Given the description of an element on the screen output the (x, y) to click on. 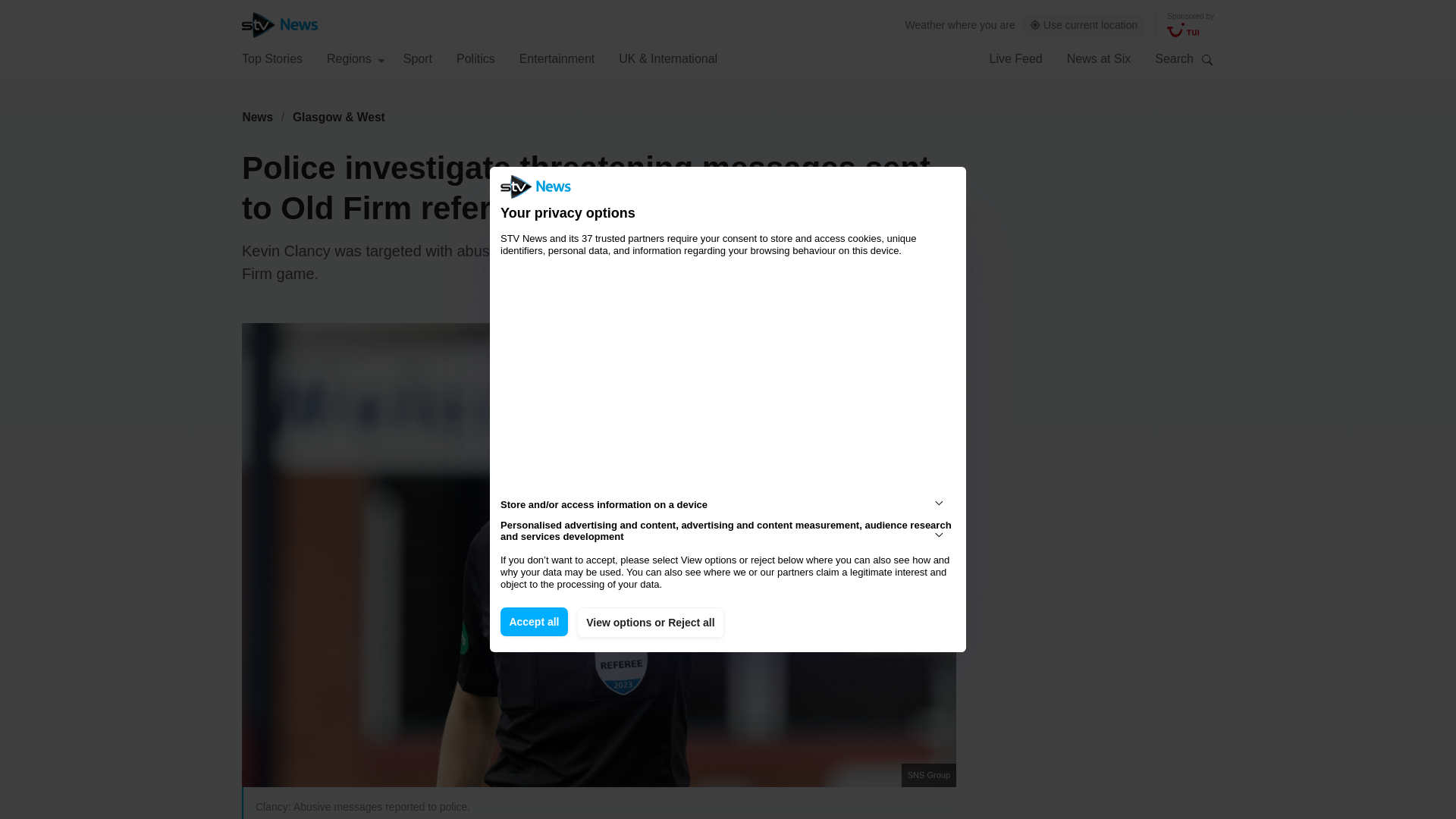
Top Stories (271, 57)
Weather (924, 24)
News (257, 116)
Search (1206, 59)
Regions (355, 57)
News at Six (1099, 57)
Politics (476, 57)
Use current location (1083, 25)
Entertainment (557, 57)
